Given the description of an element on the screen output the (x, y) to click on. 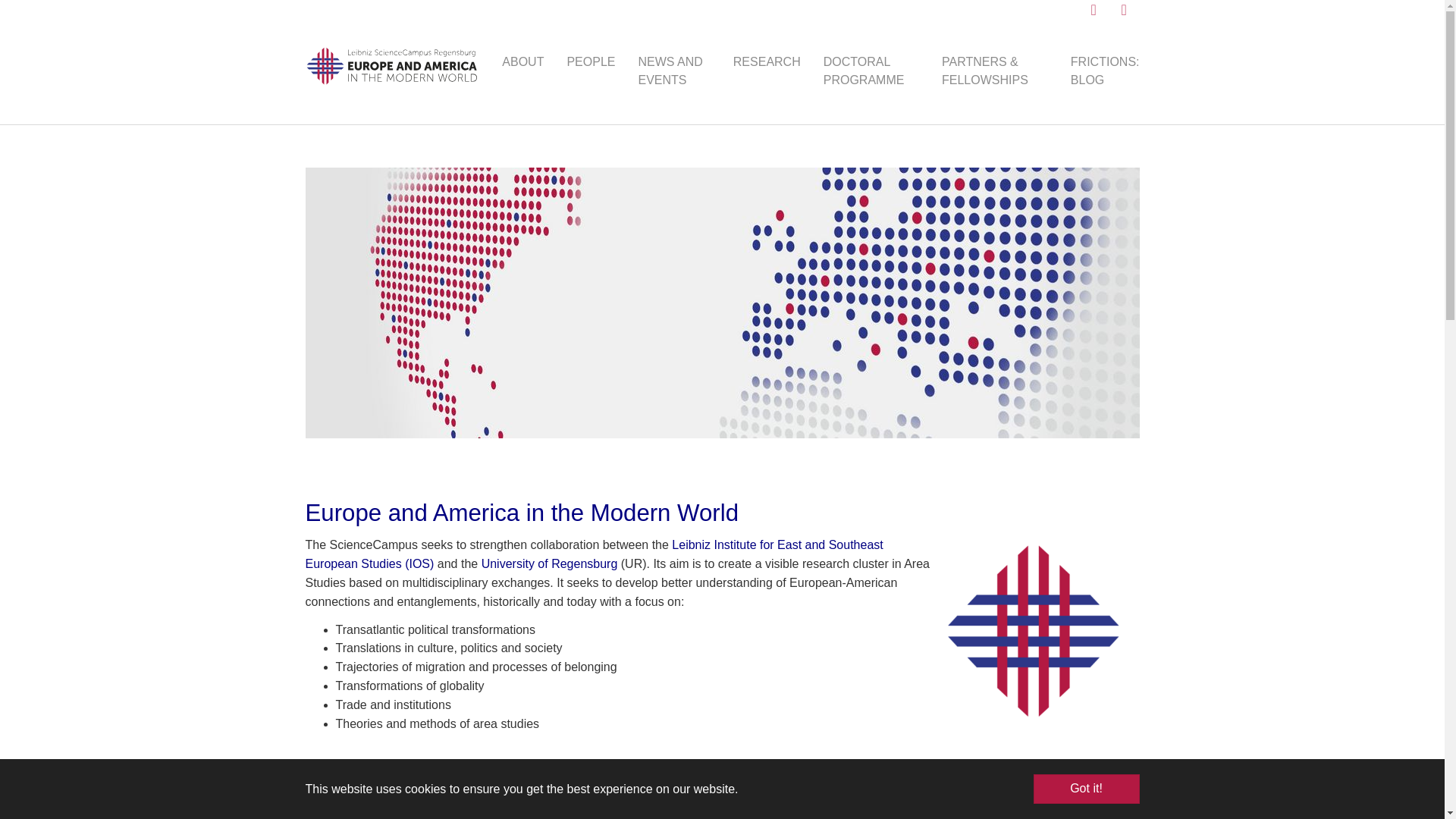
ABOUT (522, 61)
FRICTIONS: BLOG (1105, 70)
PEOPLE (590, 61)
Facebook (1099, 9)
NEWS AND EVENTS (673, 70)
Instagram (1129, 9)
partners at UR (758, 779)
RESEARCH (767, 61)
Got it! (1085, 788)
PEOPLE (590, 61)
